Given the description of an element on the screen output the (x, y) to click on. 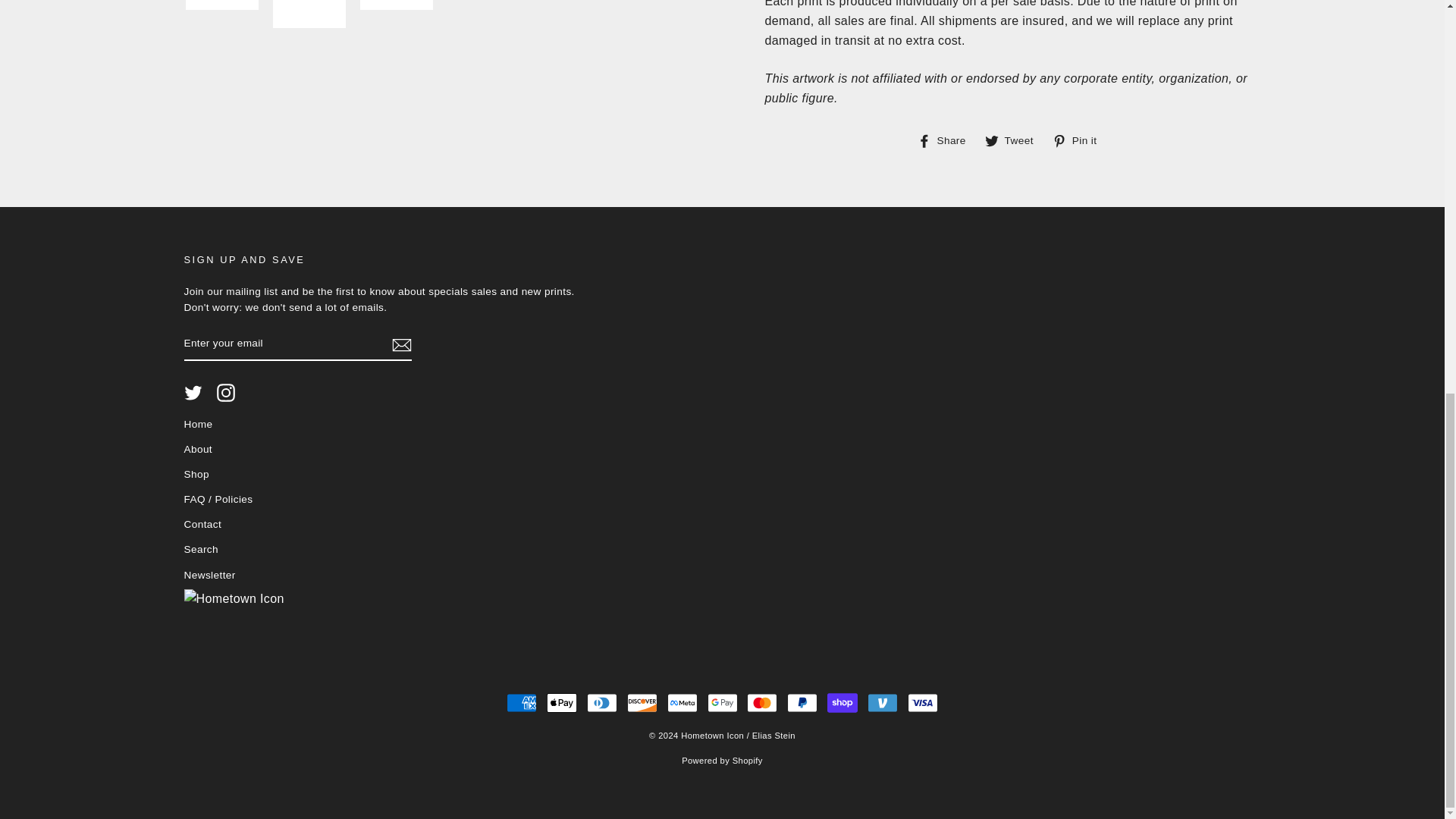
Tweet on Twitter (1080, 140)
Discover (1015, 140)
Google Pay (642, 702)
Hometown Icon on Instagram (721, 702)
Pin on Pinterest (225, 393)
Twitter (1080, 140)
Diners Club (192, 393)
PayPal (601, 702)
Shop Pay (801, 702)
Apple Pay (842, 702)
Home (561, 702)
Instagram (197, 424)
American Express (225, 393)
Hometown Icon on Twitter (521, 702)
